Given the description of an element on the screen output the (x, y) to click on. 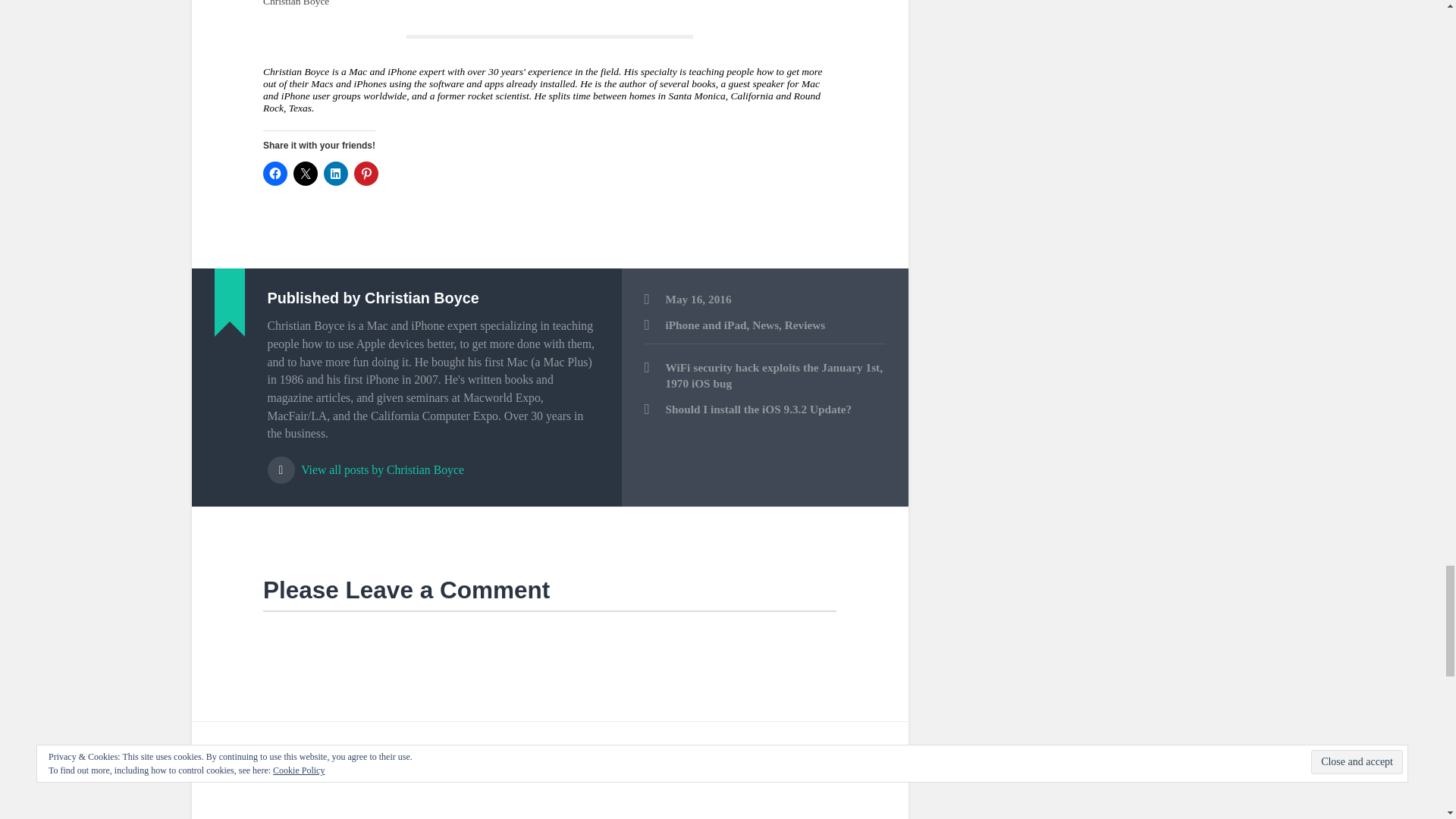
Click to share on Pinterest (365, 173)
iPhone and iPad (705, 324)
AboutCBoyce; (549, 90)
Click to share on LinkedIn (335, 173)
Reviews (804, 324)
Click to share on X (305, 173)
View all posts by Christian Boyce (432, 463)
Comment Form (549, 714)
Click to share on Facebook (274, 173)
News (765, 324)
